Given the description of an element on the screen output the (x, y) to click on. 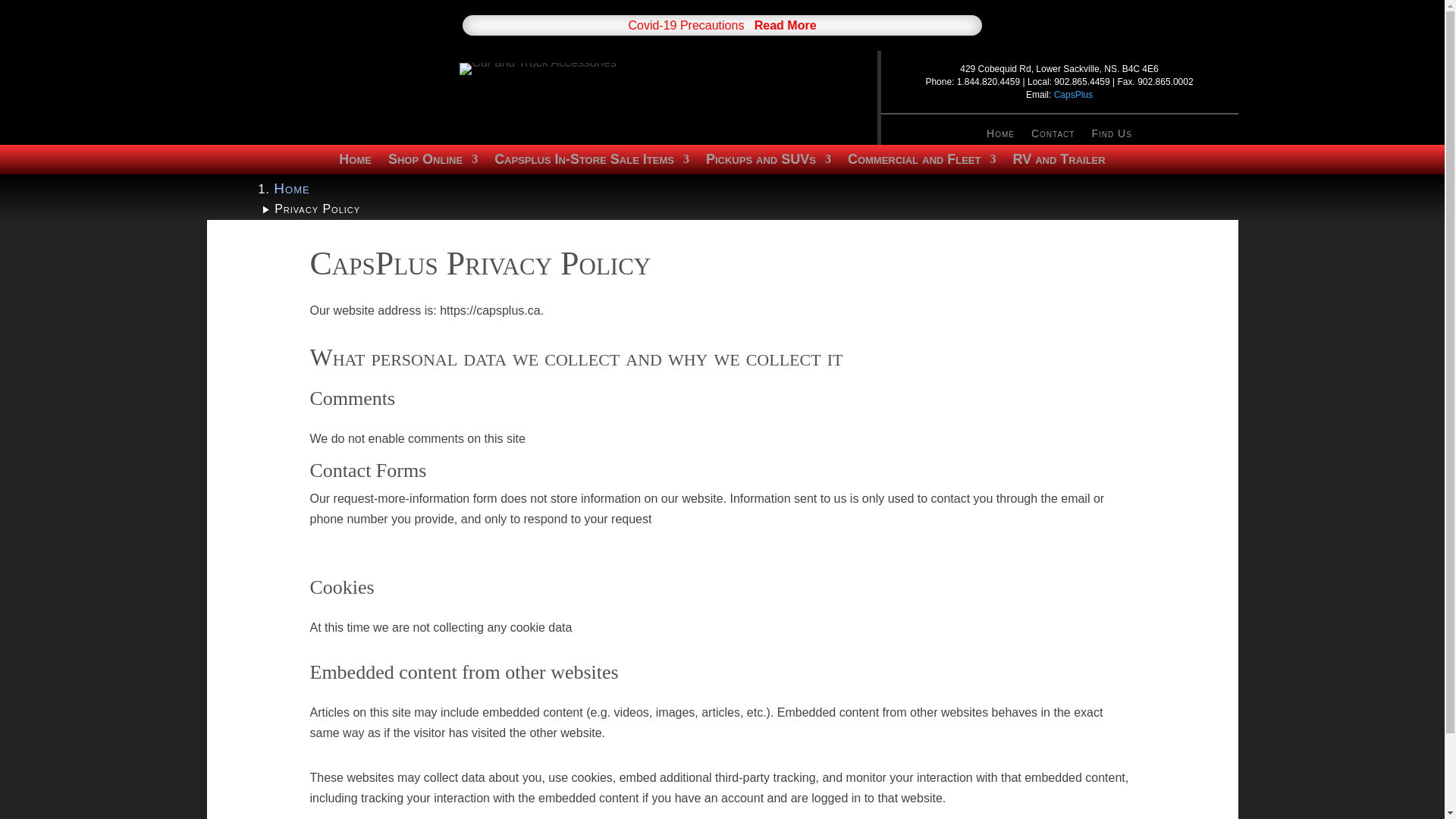
CapsPlus (1073, 94)
Pickups and SUVs (768, 161)
Read More (785, 24)
Home (355, 161)
Commercial and Fleet (921, 161)
Home (290, 188)
Capsplus In-Store Sale Items (591, 161)
RV and Trailer (1058, 161)
Contact (1052, 135)
capspluslogo-1 (537, 69)
Home (1000, 135)
Shop Online (432, 161)
Find Us (1110, 135)
